Given the description of an element on the screen output the (x, y) to click on. 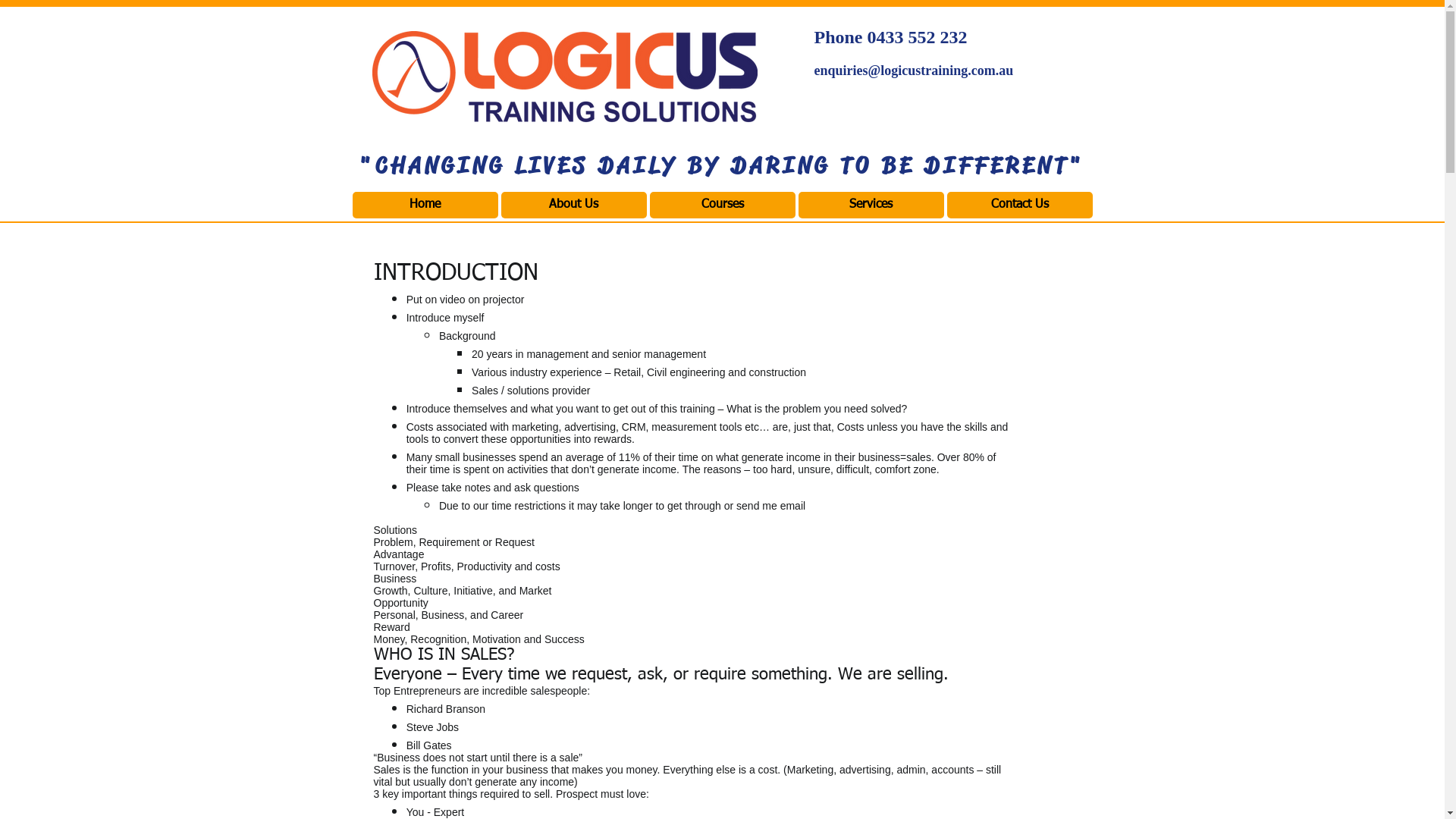
Logicus Training Solutions Element type: hover (564, 80)
Home Element type: text (424, 204)
Courses Element type: text (721, 204)
enquiries@logicustraining.com.au Element type: text (913, 70)
About Us Element type: text (573, 204)
Services Element type: text (870, 204)
Contact Us Element type: text (1019, 204)
